Given the description of an element on the screen output the (x, y) to click on. 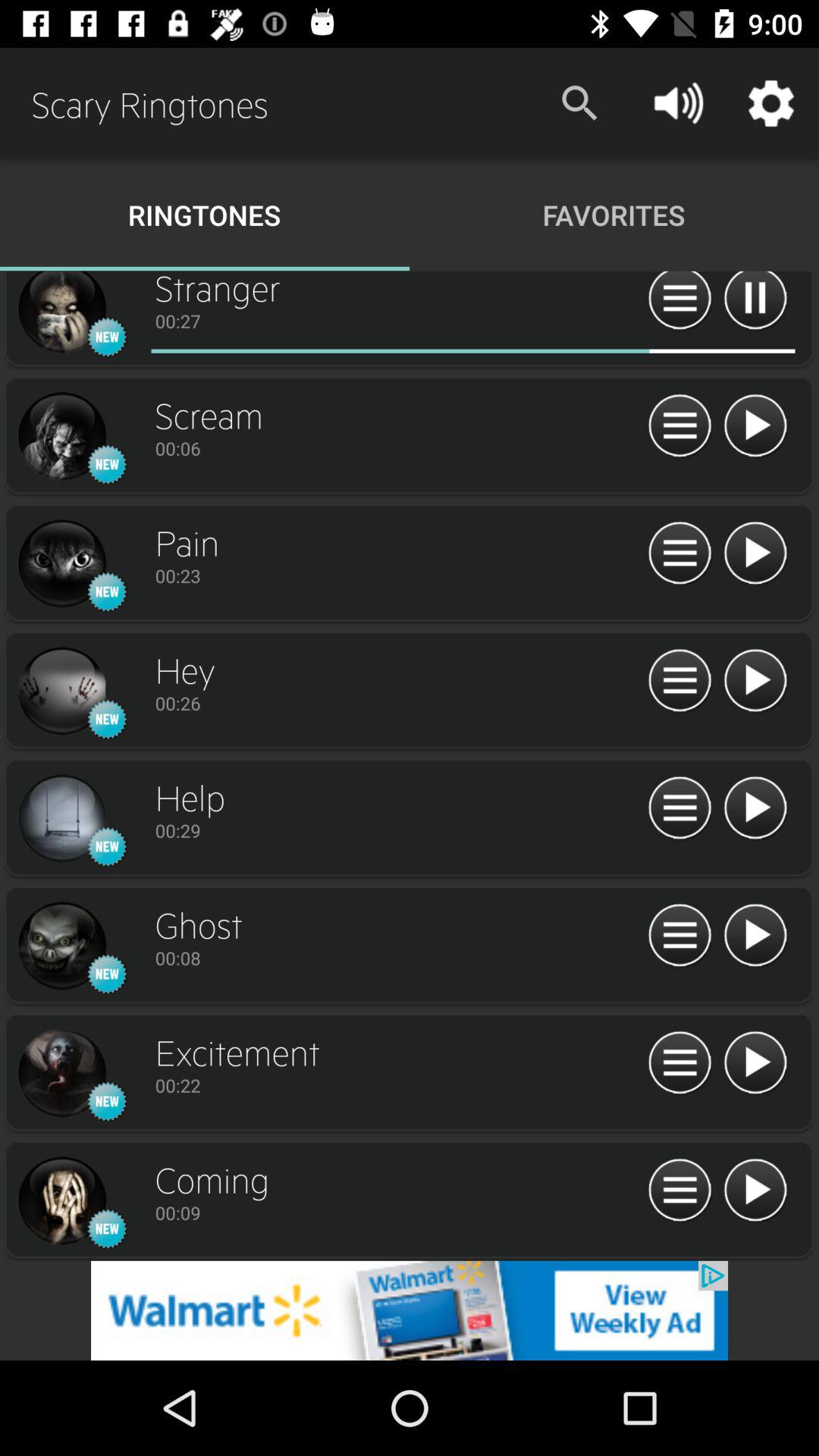
open menu options (679, 681)
